Given the description of an element on the screen output the (x, y) to click on. 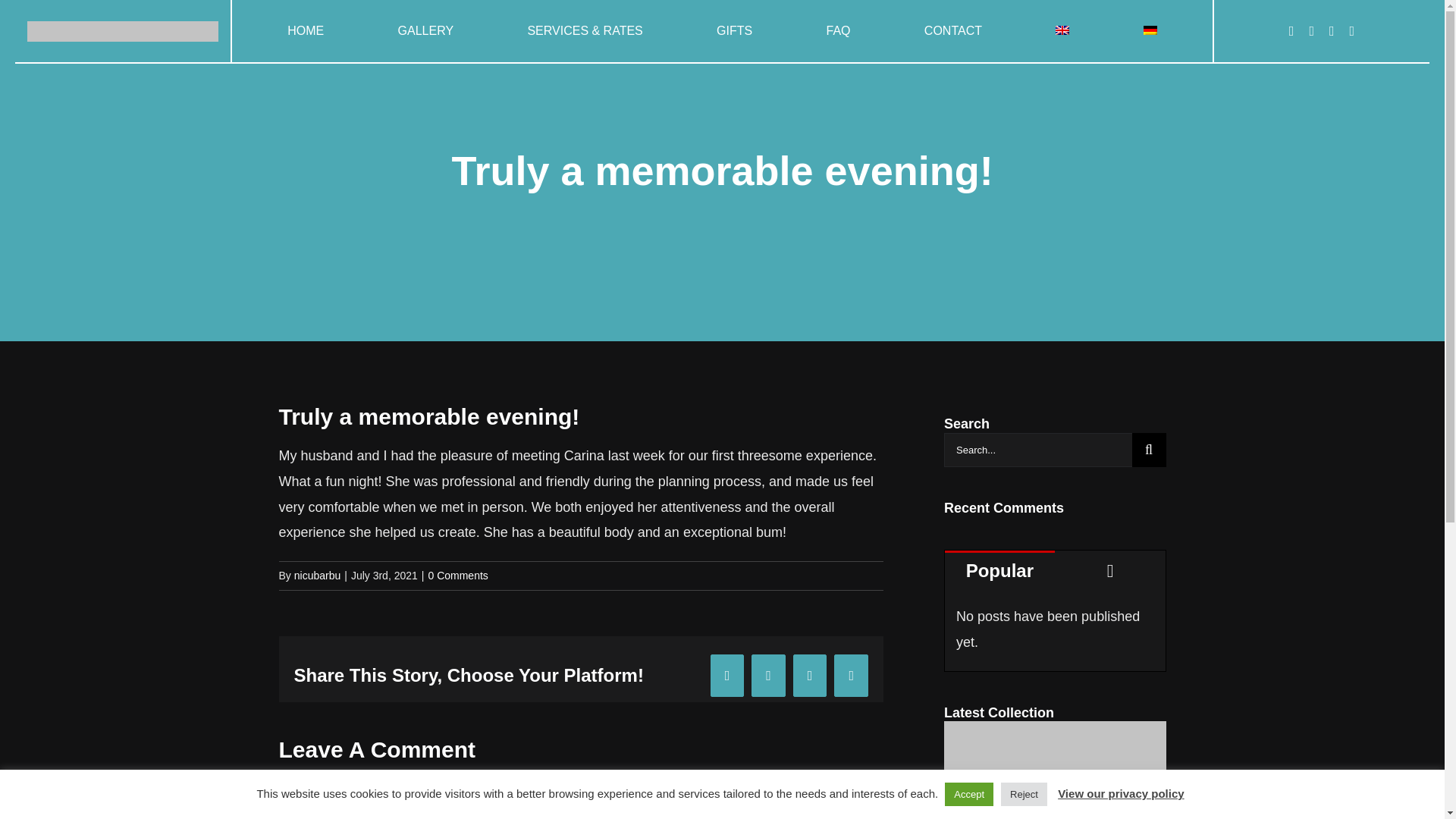
CONTACT (952, 31)
Posts by nicubarbu (317, 575)
nicubarbu (317, 575)
View our privacy policy (1120, 793)
GALLERY (425, 31)
GIFTS (734, 31)
Comments (1110, 569)
Popular (999, 569)
Reject (1023, 793)
